Given the description of an element on the screen output the (x, y) to click on. 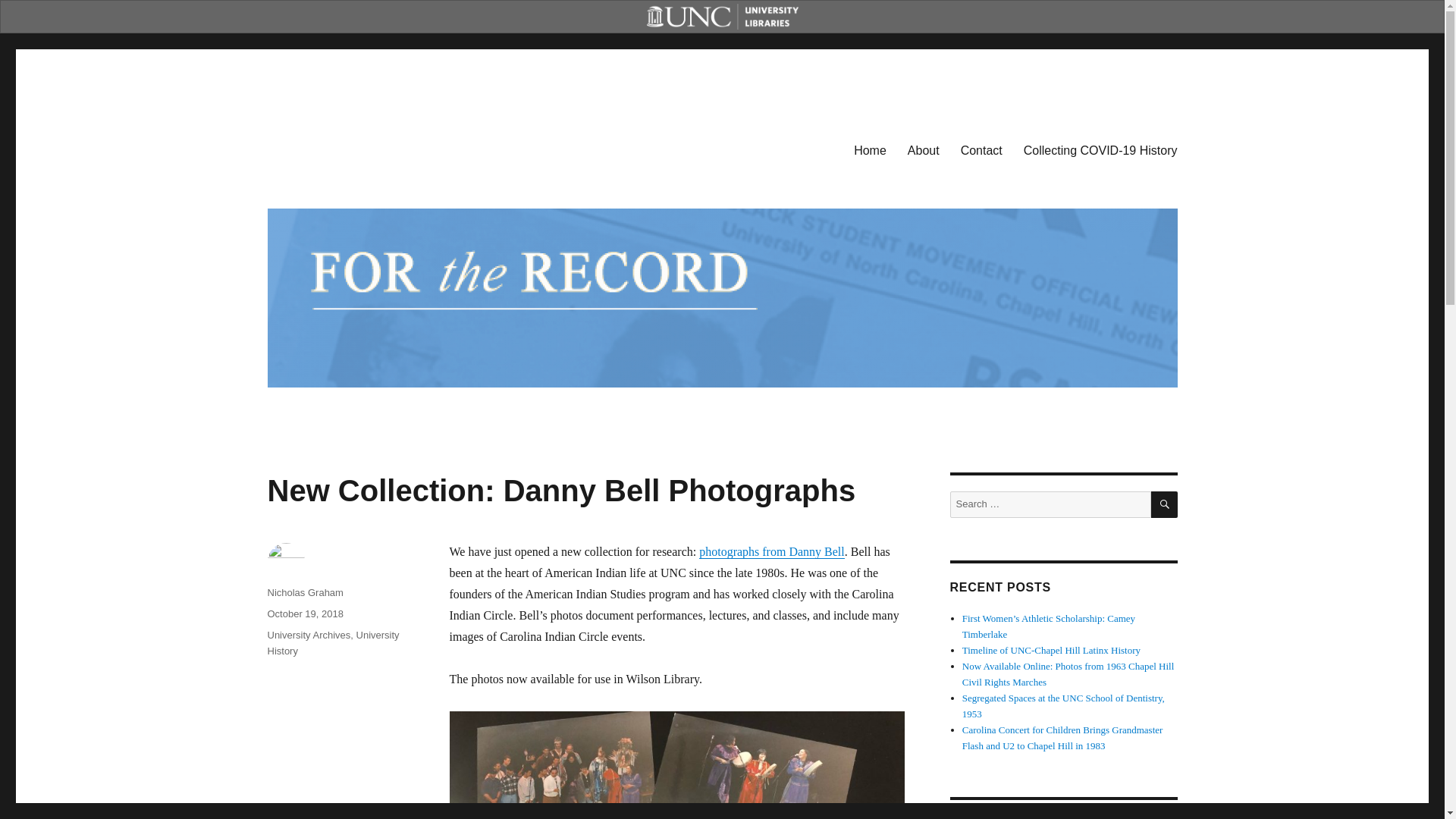
Contact (981, 150)
photographs from Danny Bell (771, 551)
University Archives (308, 634)
Home (869, 150)
October 19, 2018 (304, 613)
Segregated Spaces at the UNC School of Dentistry, 1953 (1063, 705)
SEARCH (1164, 504)
Timeline of UNC-Chapel Hill Latinx History (1051, 650)
Nicholas Graham (304, 592)
For the Record (341, 146)
About (923, 150)
Collecting COVID-19 History (1100, 150)
University History (332, 642)
